Given the description of an element on the screen output the (x, y) to click on. 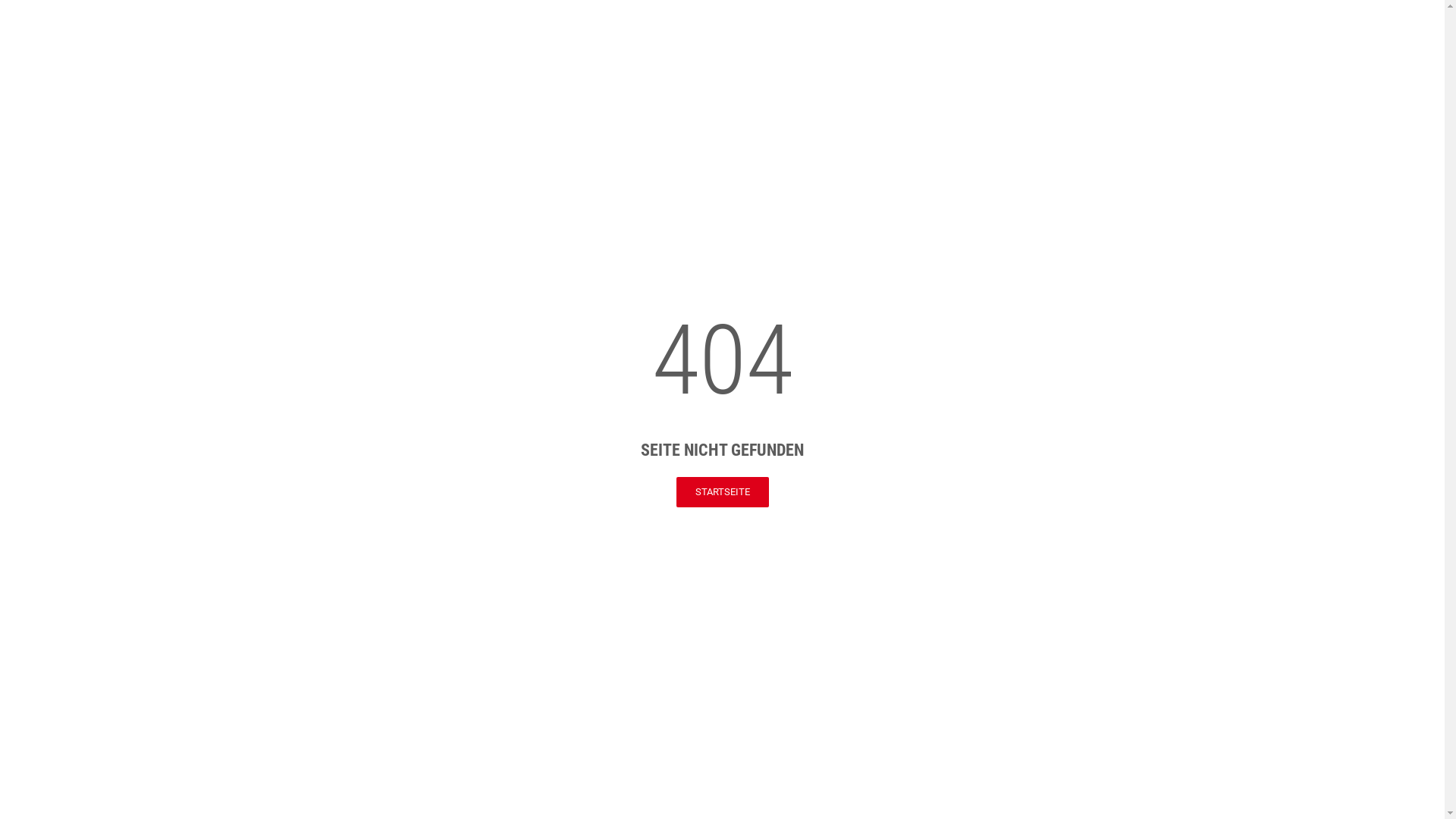
STARTSEITE Element type: text (722, 491)
